Given the description of an element on the screen output the (x, y) to click on. 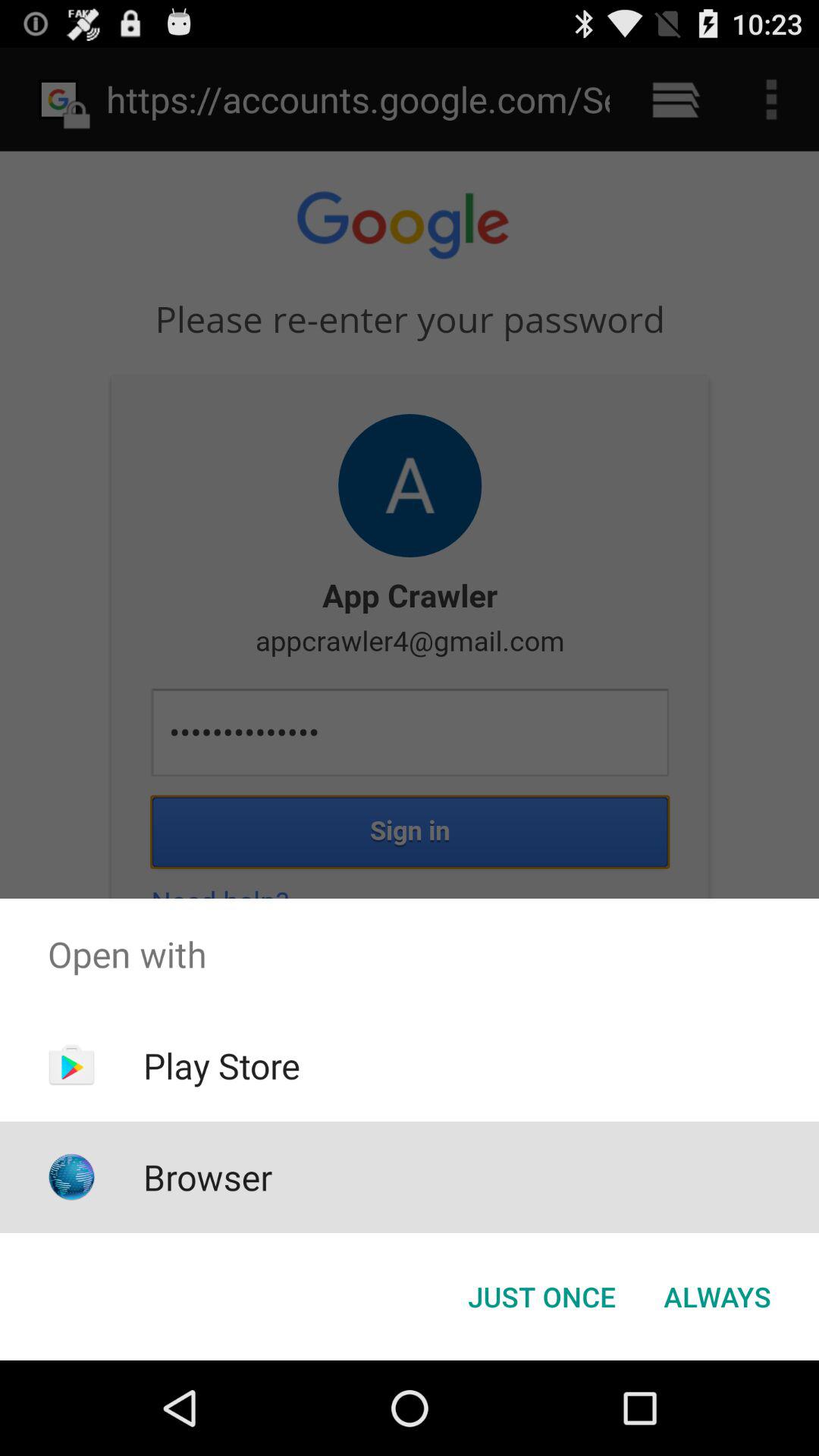
select app below the open with (221, 1065)
